Given the description of an element on the screen output the (x, y) to click on. 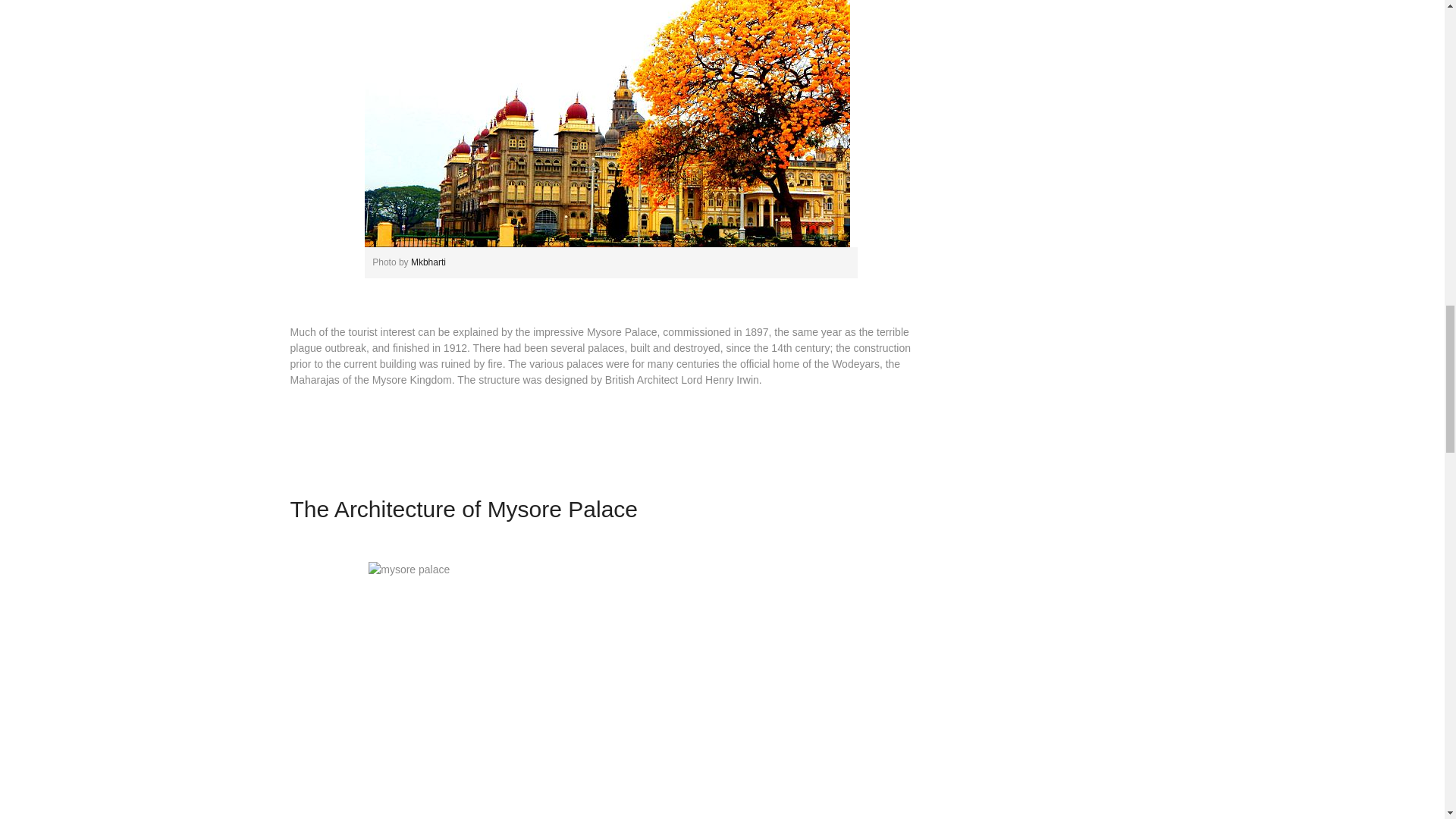
Mkbharti (427, 262)
